Given the description of an element on the screen output the (x, y) to click on. 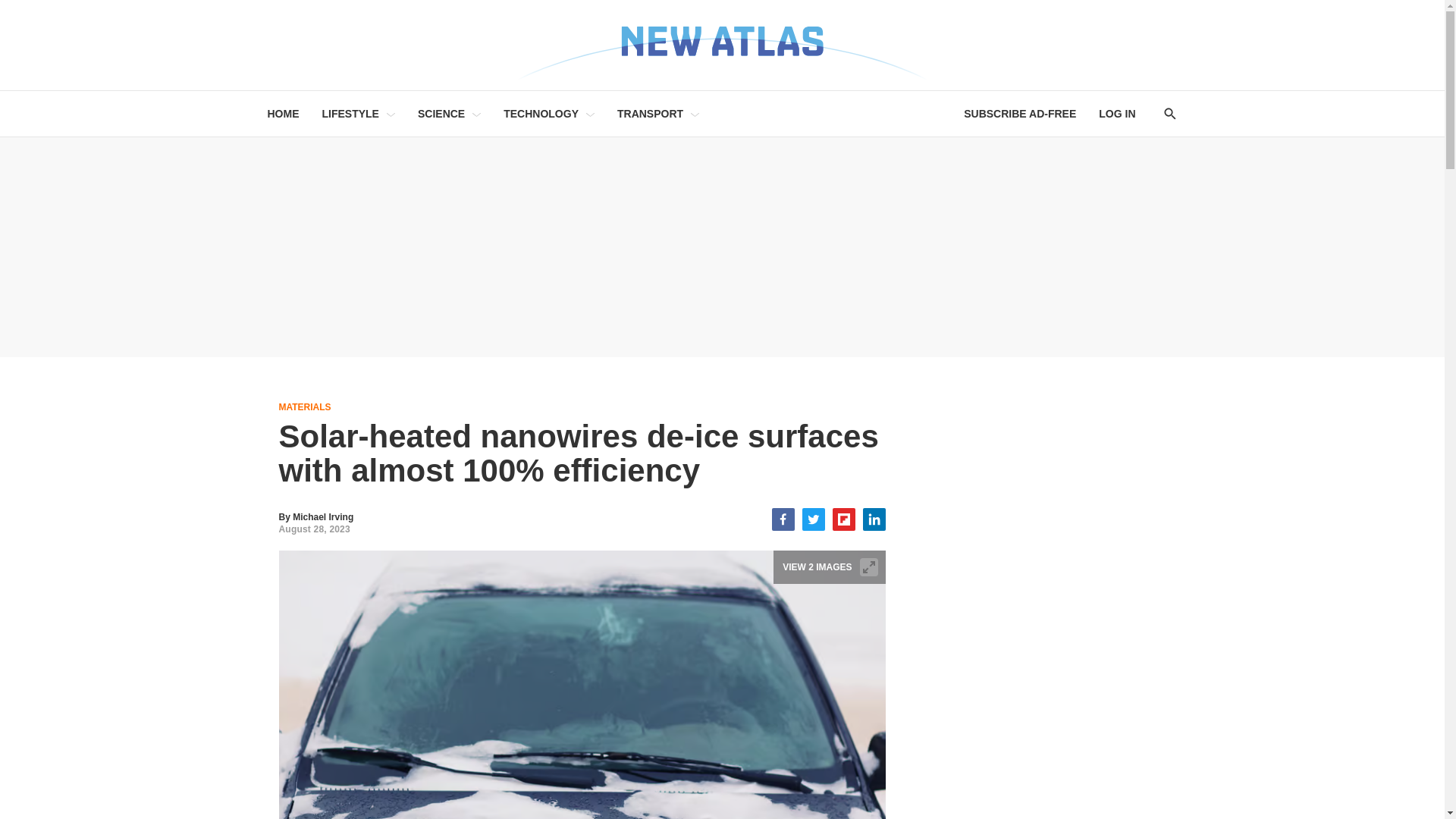
View full-screen (868, 566)
